Given the description of an element on the screen output the (x, y) to click on. 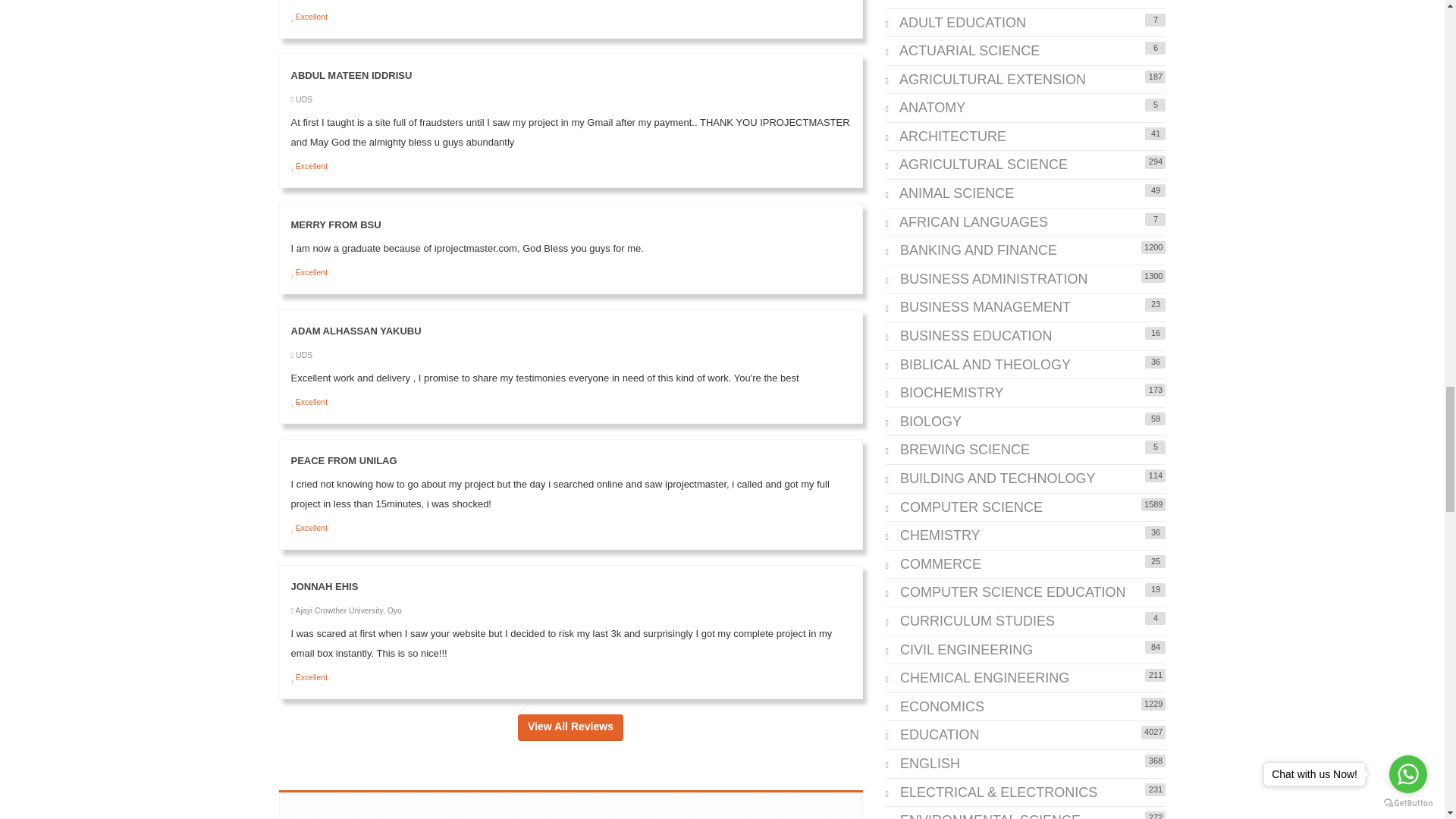
View All Reviews (570, 727)
